Given the description of an element on the screen output the (x, y) to click on. 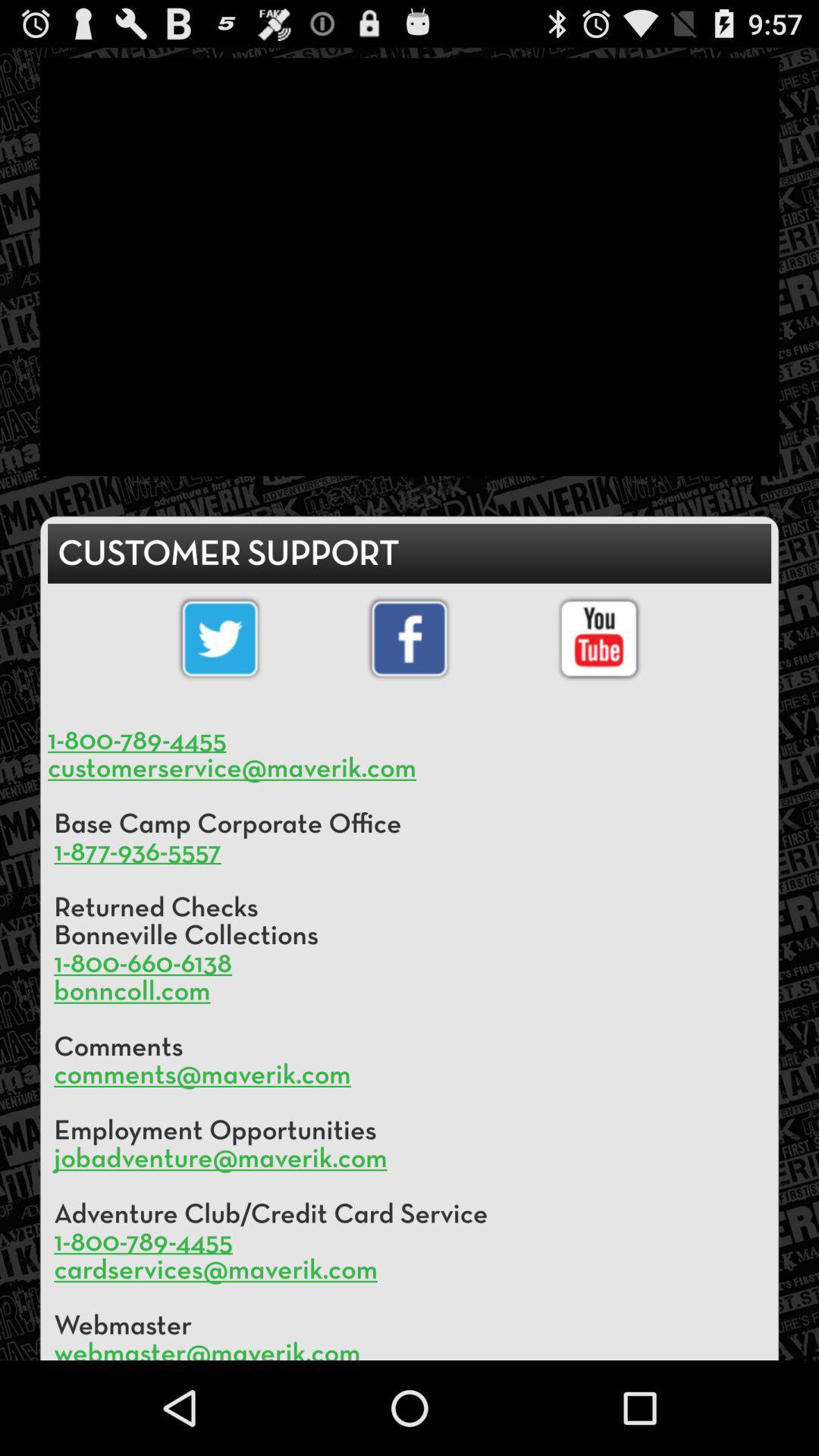
go to facebook (409, 638)
